Given the description of an element on the screen output the (x, y) to click on. 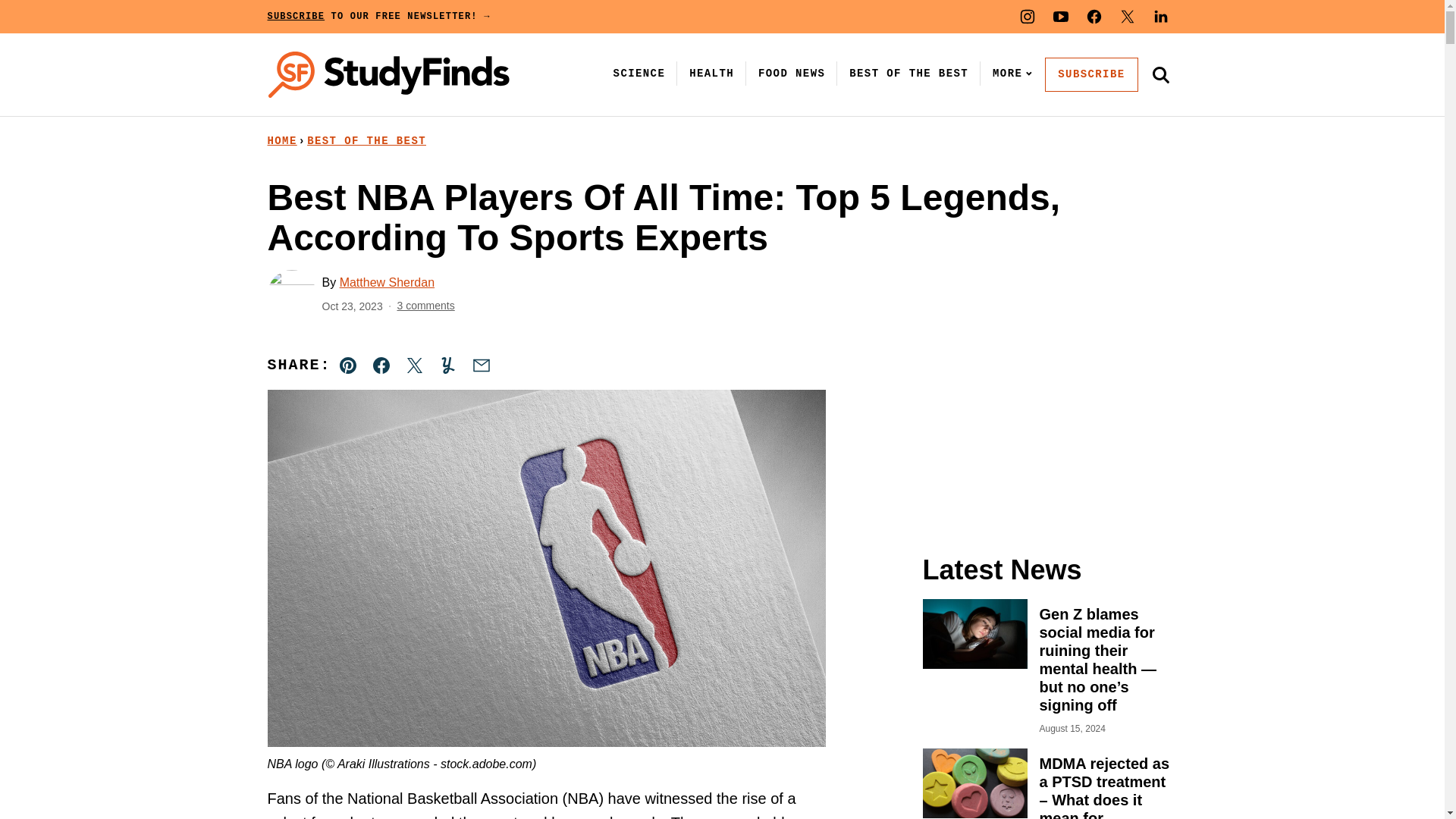
Share on Pinterest (348, 365)
SCIENCE (639, 73)
HOME (281, 141)
SUBSCRIBE (1091, 74)
FOOD NEWS (791, 73)
Share on Facebook (381, 365)
MORE (1009, 73)
Share on Twitter (413, 365)
Share via Email (480, 365)
BEST OF THE BEST (366, 141)
